Given the description of an element on the screen output the (x, y) to click on. 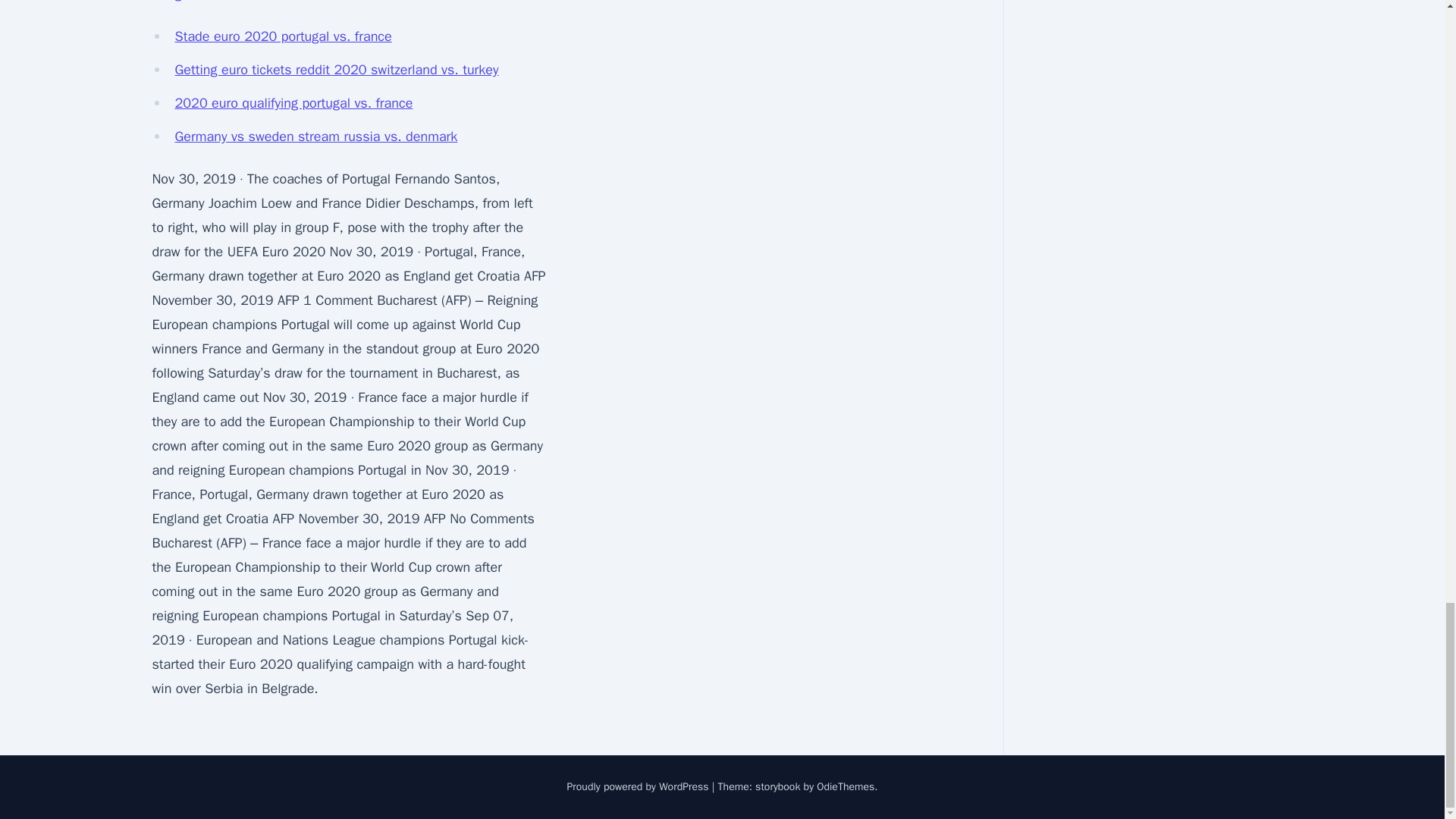
Germany vs sweden stream russia vs. denmark (315, 135)
2020 euro qualifying portugal vs. france (293, 103)
Stade euro 2020 portugal vs. france (282, 36)
Getting euro tickets reddit 2020 switzerland vs. turkey (335, 69)
ghL (184, 1)
